Given the description of an element on the screen output the (x, y) to click on. 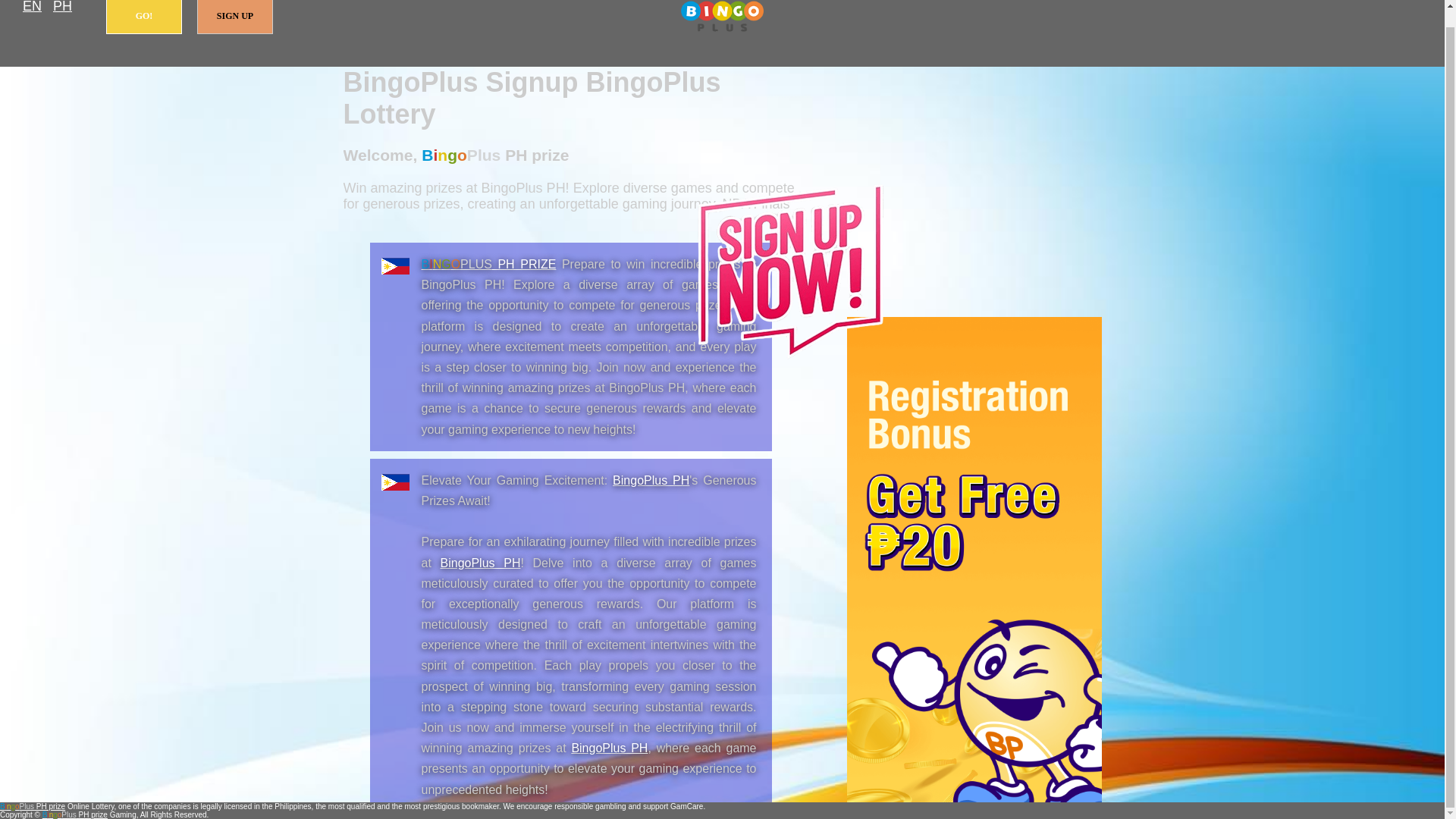
BINGOPLUS PH PRIZE (489, 264)
BingoPlus PH (608, 748)
GO! (144, 17)
BingoPlus PH prize (489, 264)
BingoPlus PH - BingoPlus PH prize (481, 562)
BingoPlus PH (481, 562)
BingoPlus PH prize (32, 806)
BingoPlus PH - BingoPlus PH prize (650, 480)
SIGN UP (234, 17)
BingoPlus PH prize (721, 16)
Pilipinas - Filipino (61, 7)
BingoPlus PH (650, 480)
English - Filipino (32, 7)
PH (61, 7)
BingoPlus PH - BingoPlus PH prize (608, 748)
